Given the description of an element on the screen output the (x, y) to click on. 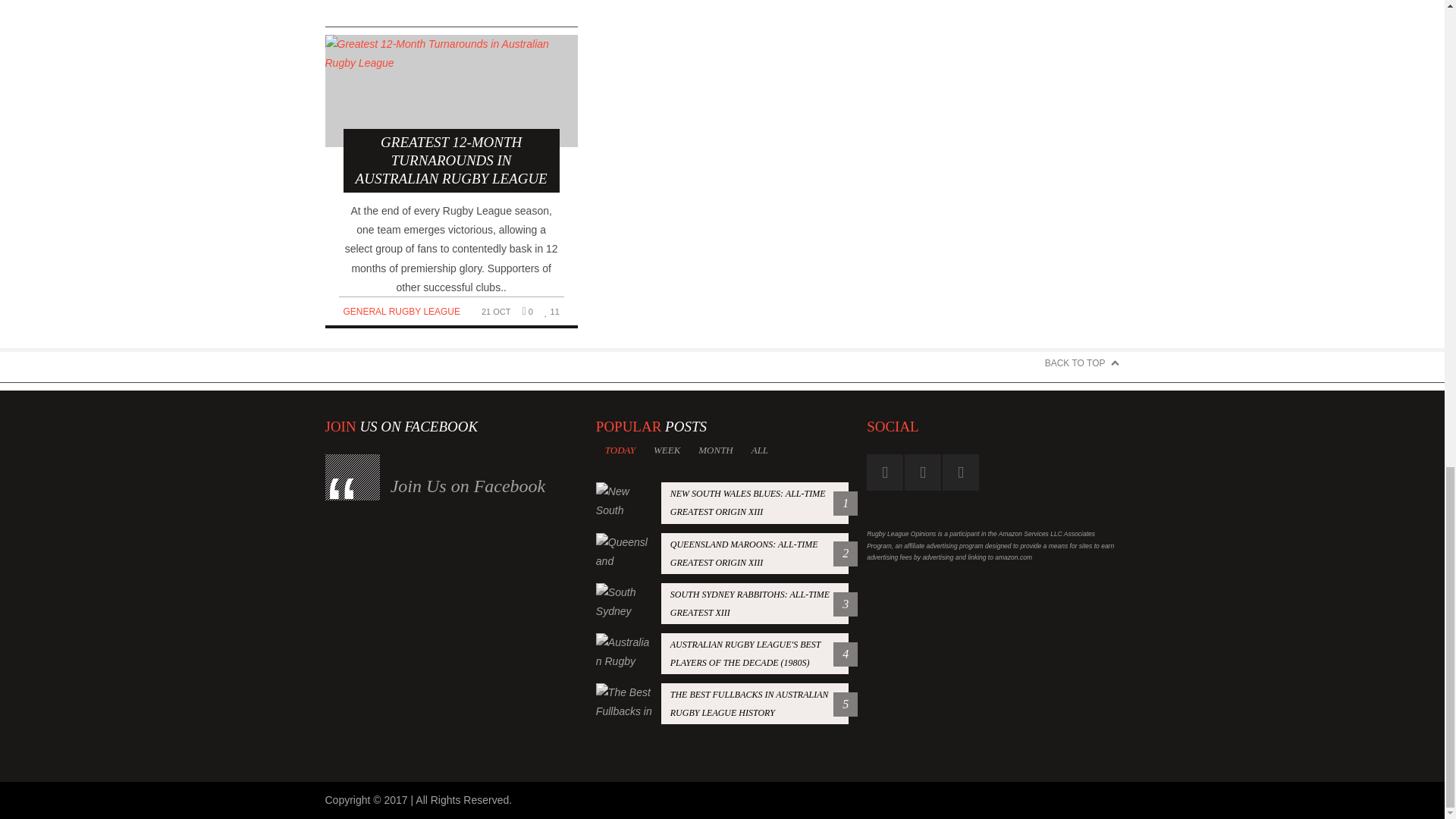
South Sydney Rabbitohs: All-Time Greatest XIII (721, 603)
GREATEST 12-MONTH TURNAROUNDS IN AUSTRALIAN RUGBY LEAGUE (450, 113)
The Best Fullbacks in Australian Rugby League History (721, 553)
Join Us on Facebook (721, 703)
TODAY (468, 485)
GENERAL RUGBY LEAGUE (620, 449)
WEEK (401, 311)
View all posts in General Rugby League (666, 449)
ALL (401, 311)
BACK TO TOP (759, 449)
New South Wales Blues: All-Time Greatest Origin XIII (1082, 363)
MONTH (721, 502)
